Given the description of an element on the screen output the (x, y) to click on. 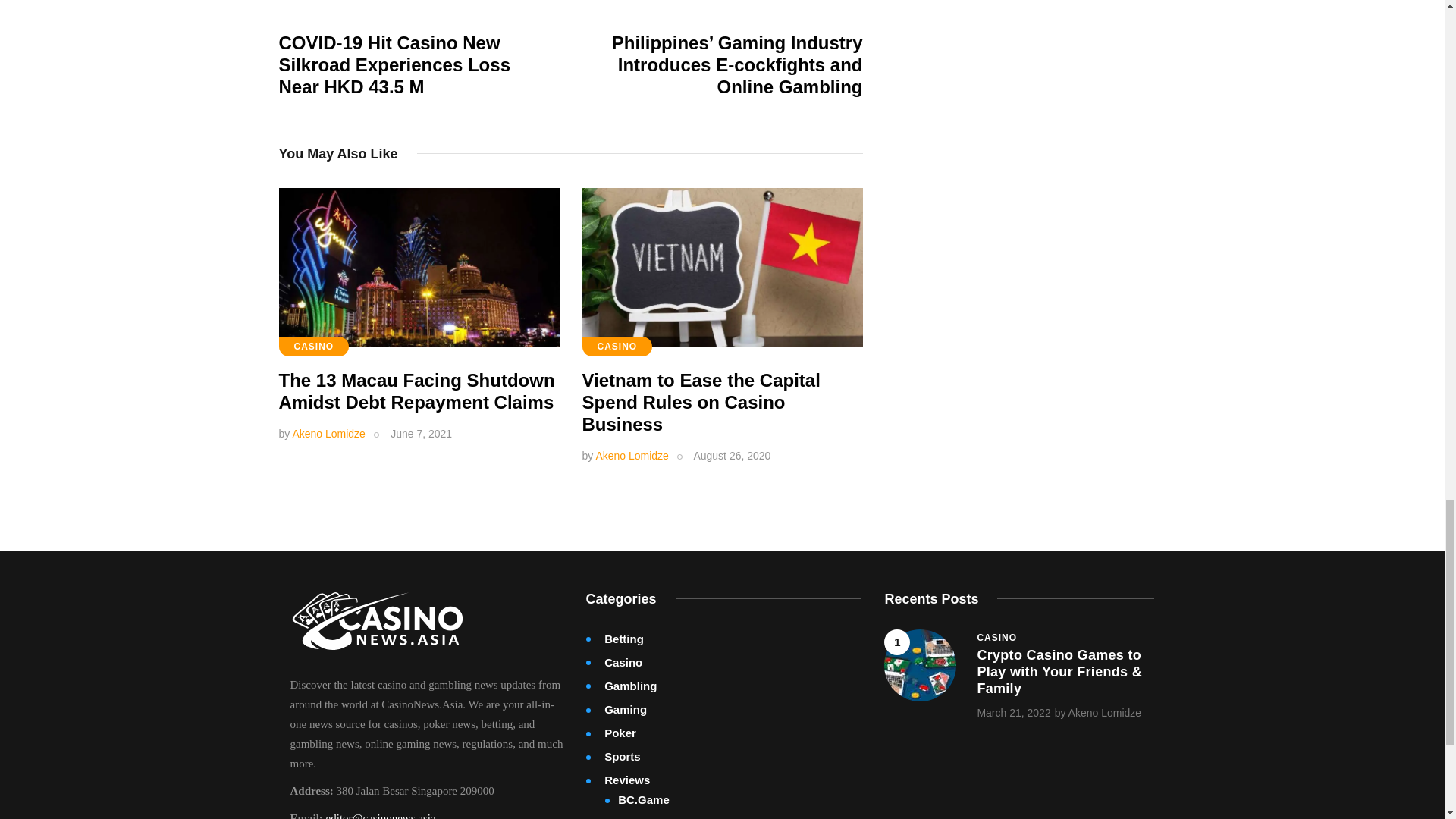
Casino News.Asia -Footer Logo (376, 620)
View all posts in Casino (996, 637)
